Given the description of an element on the screen output the (x, y) to click on. 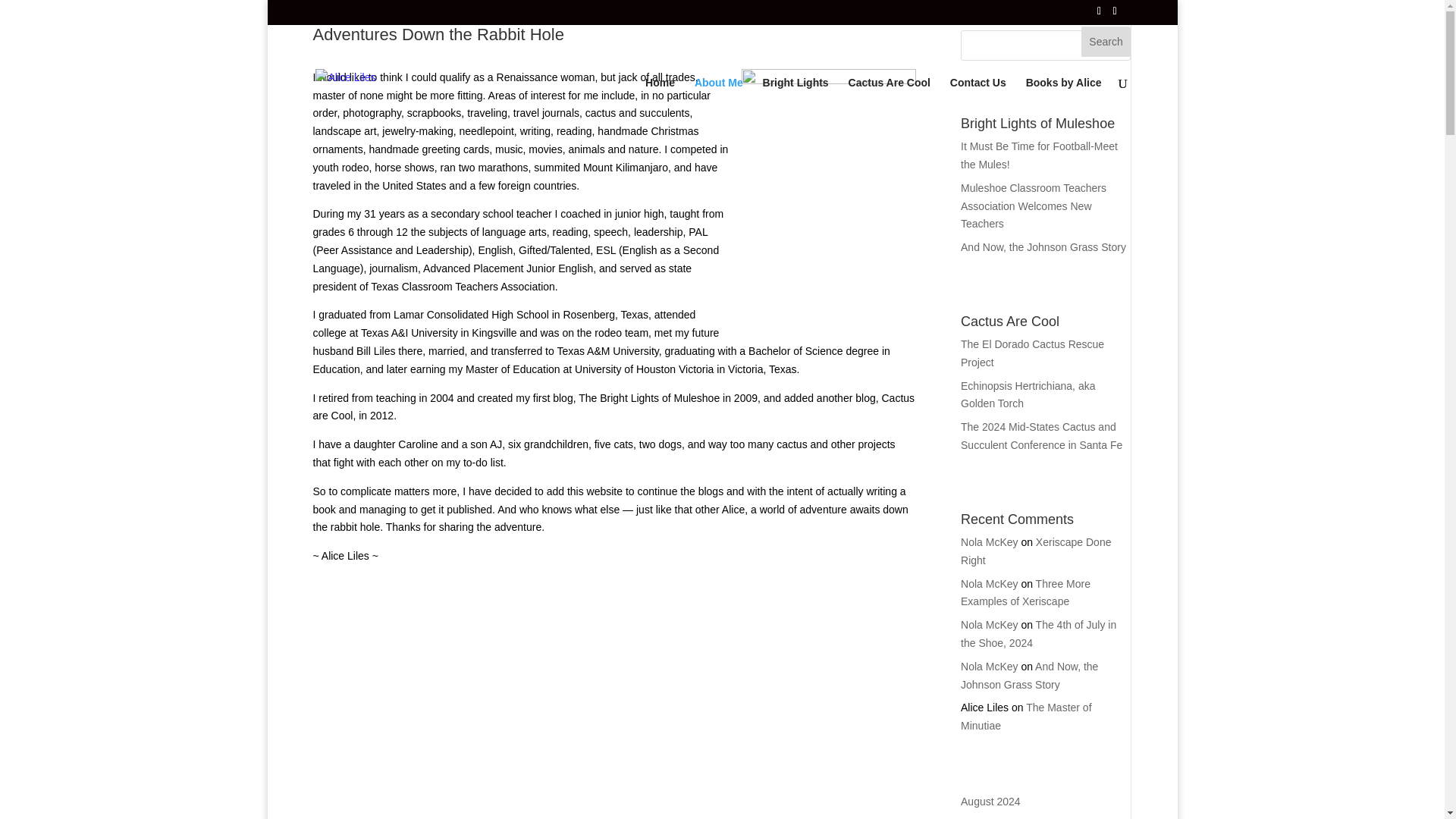
August 2024 (990, 801)
Cactus Are Cool (889, 109)
Permanent link to And Now, the Johnson Grass Story (1042, 246)
It Must Be Time for Football-Meet the Mules! (1039, 155)
Books by Alice (1064, 109)
The El Dorado Cactus Rescue Project (1031, 353)
Xeriscape Done Right (1035, 551)
Bright Lights (795, 109)
